Given the description of an element on the screen output the (x, y) to click on. 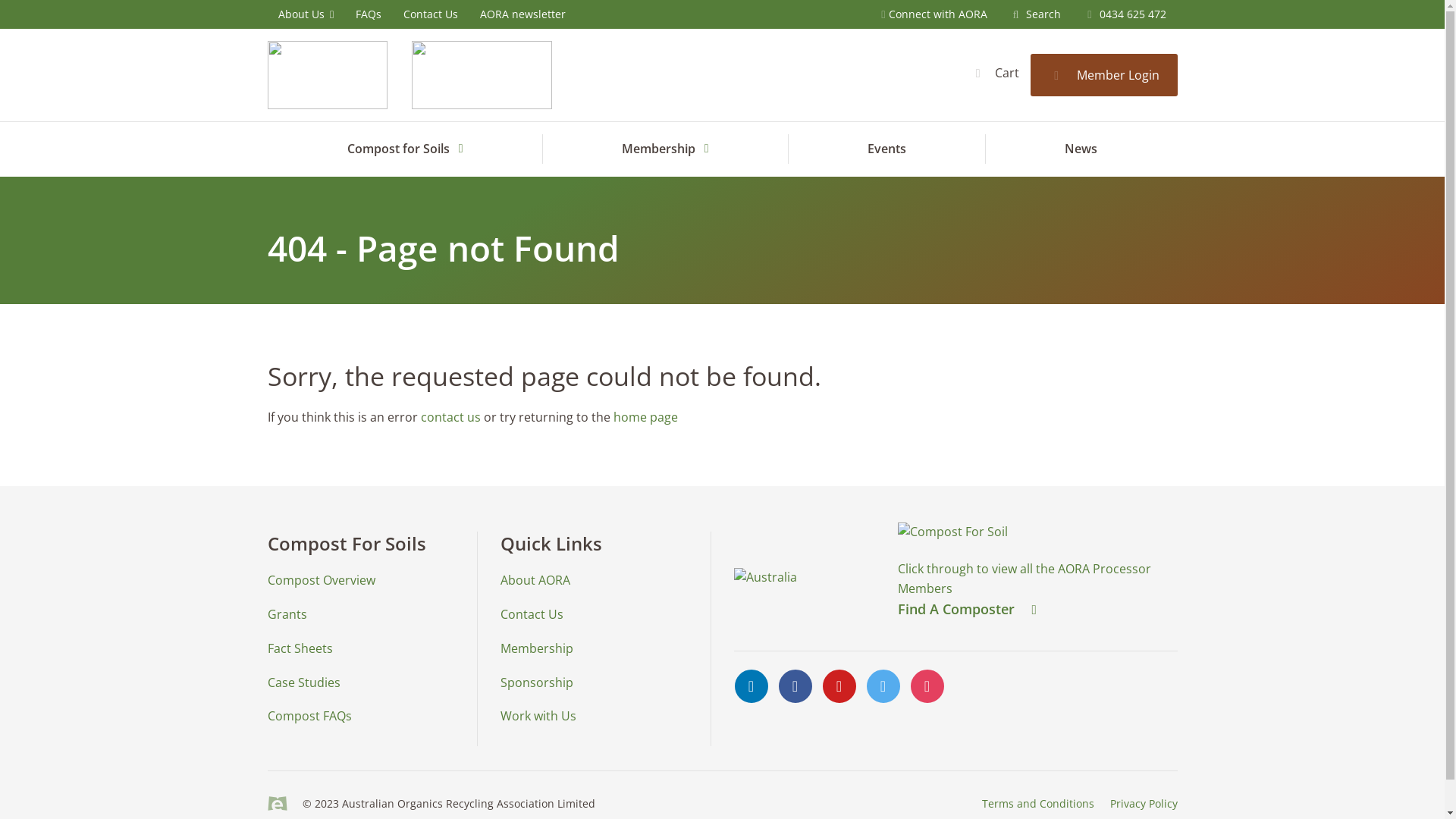
contact us Element type: text (450, 416)
0434 625 472 Element type: text (1123, 14)
compost for soil Element type: hover (999, 532)
Fact Sheets Element type: text (299, 648)
Terms and Conditions Element type: text (1038, 803)
Australia Element type: hover (765, 577)
Compost for Soils Element type: text (405, 148)
Case Studies Element type: text (302, 682)
About Us Element type: text (305, 14)
Member Login Element type: text (1103, 74)
About AORA Element type: text (535, 579)
Compost FAQs Element type: text (308, 715)
Sponsorship Element type: text (536, 682)
Contact Us Element type: text (430, 14)
Membership Element type: text (536, 648)
 Connect with AORA Element type: text (933, 14)
Grants Element type: text (286, 613)
Membership Element type: text (665, 148)
Compost Overview Element type: text (320, 579)
News Element type: text (1080, 148)
Contact Us Element type: text (531, 613)
Work with Us Element type: text (538, 715)
AORA newsletter Element type: text (522, 14)
Search Element type: text (1034, 14)
FAQs Element type: text (368, 14)
home page Element type: text (644, 416)
Events Element type: text (886, 148)
Privacy Policy Element type: text (1143, 803)
Cart Element type: text (994, 72)
